Given the description of an element on the screen output the (x, y) to click on. 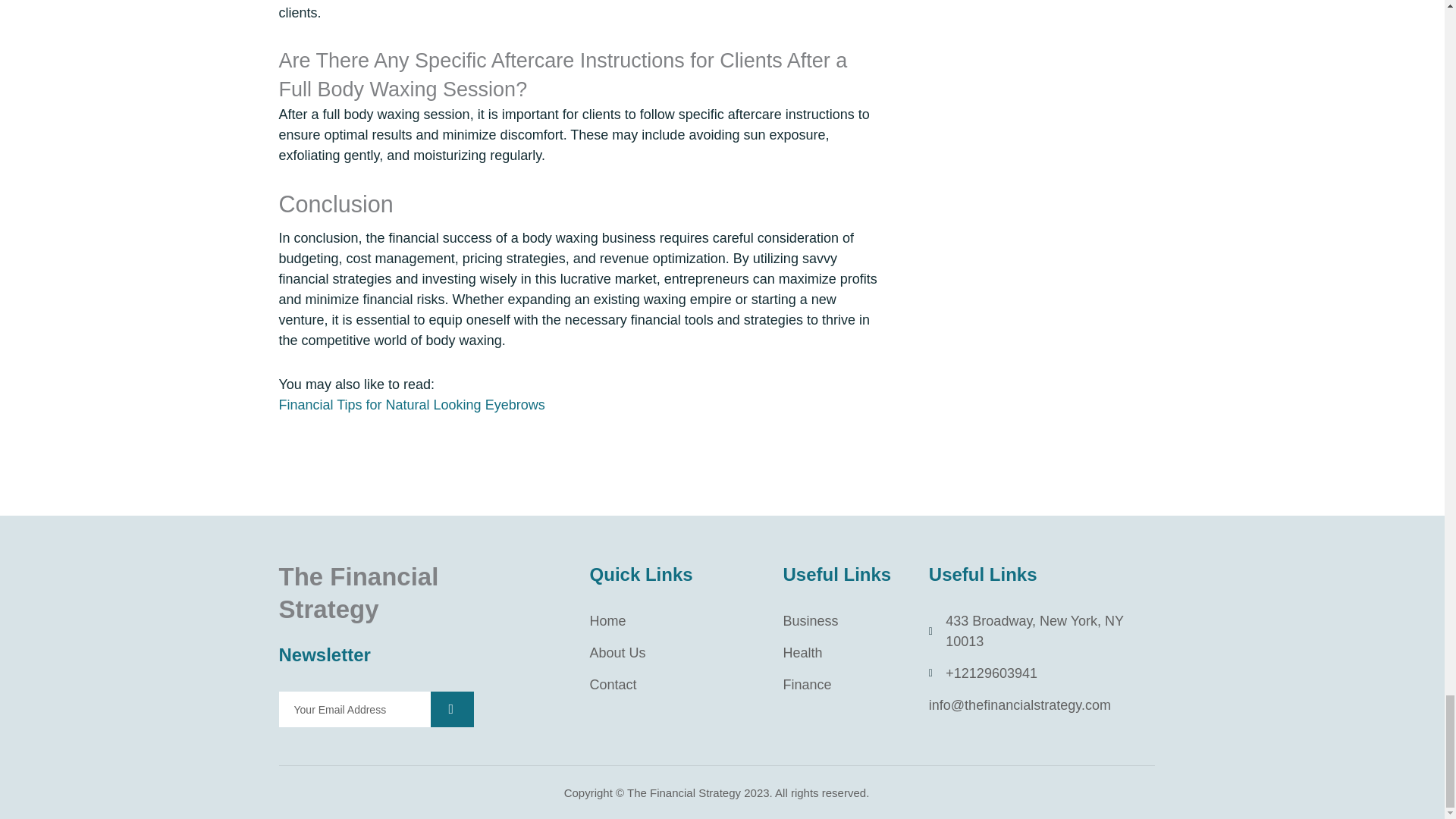
Contact (674, 684)
Business (844, 620)
About Us (674, 652)
Health (844, 652)
Home (674, 620)
Financial Tips for Natural Looking Eyebrows (411, 404)
The Financial Strategy (359, 592)
Finance (844, 684)
